Given the description of an element on the screen output the (x, y) to click on. 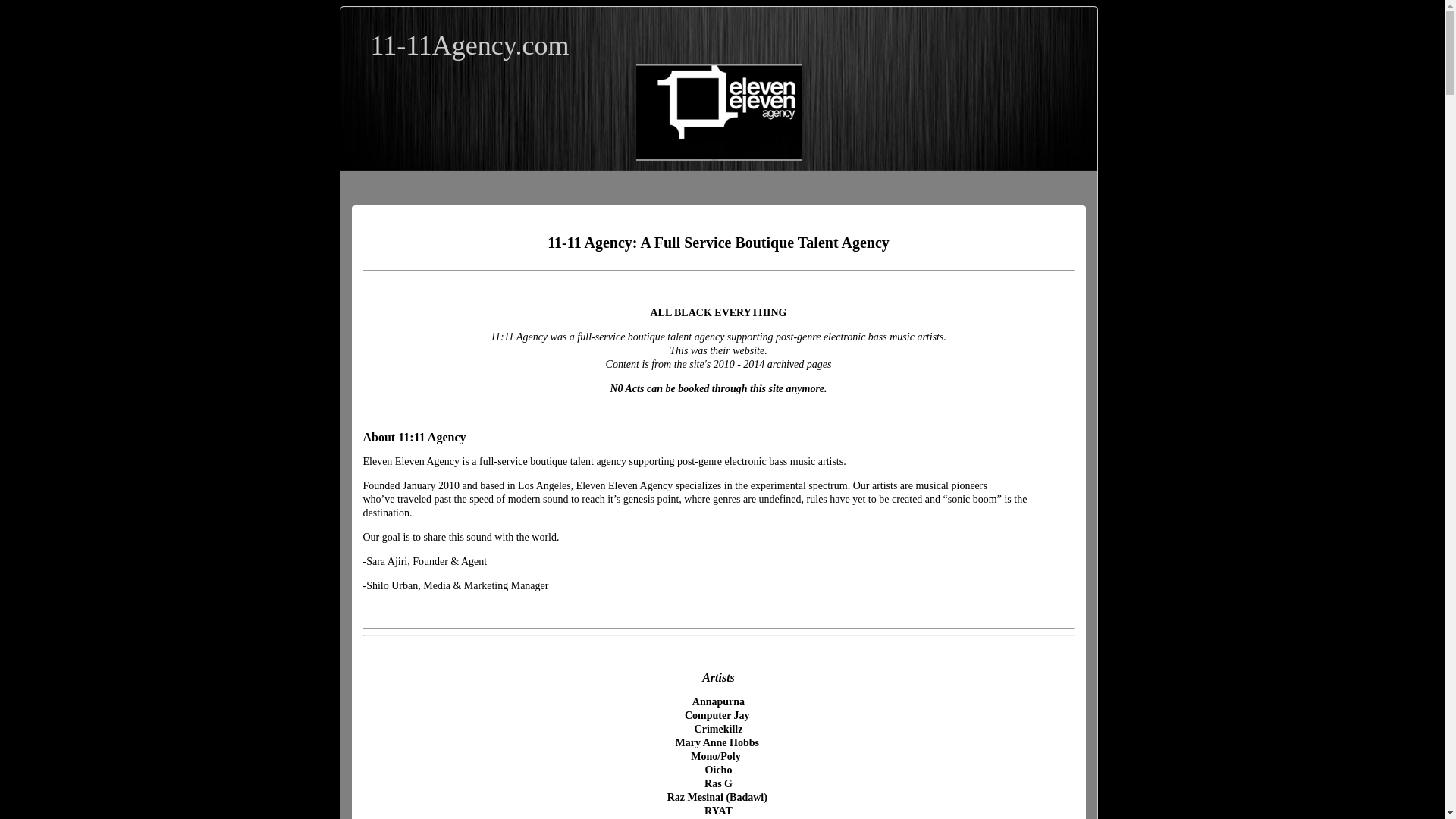
11-11Agency.com Element type: text (469, 45)
